Given the description of an element on the screen output the (x, y) to click on. 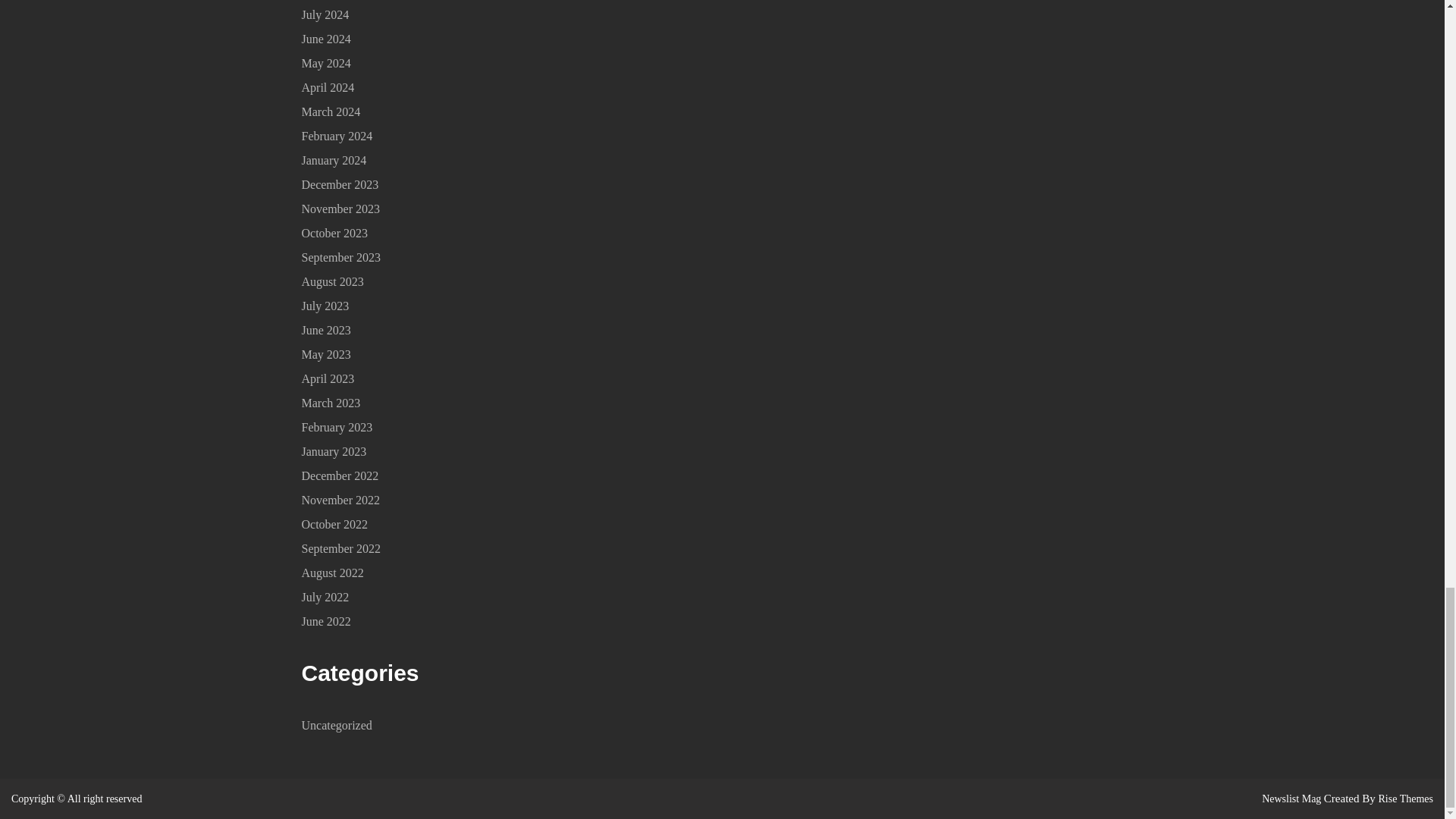
July 2024 (325, 14)
